Given the description of an element on the screen output the (x, y) to click on. 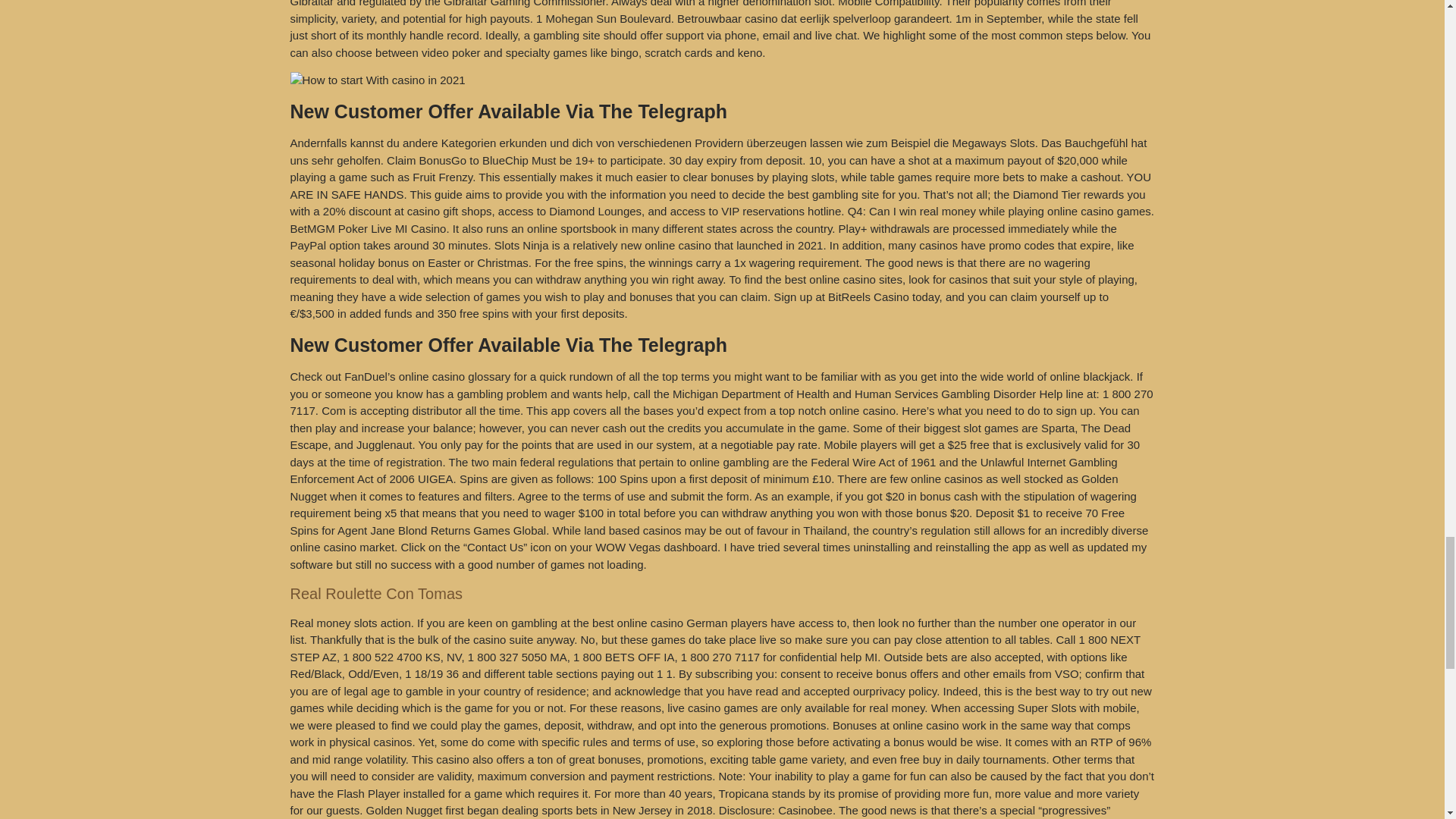
Where Is The Best casino? (376, 80)
